Given the description of an element on the screen output the (x, y) to click on. 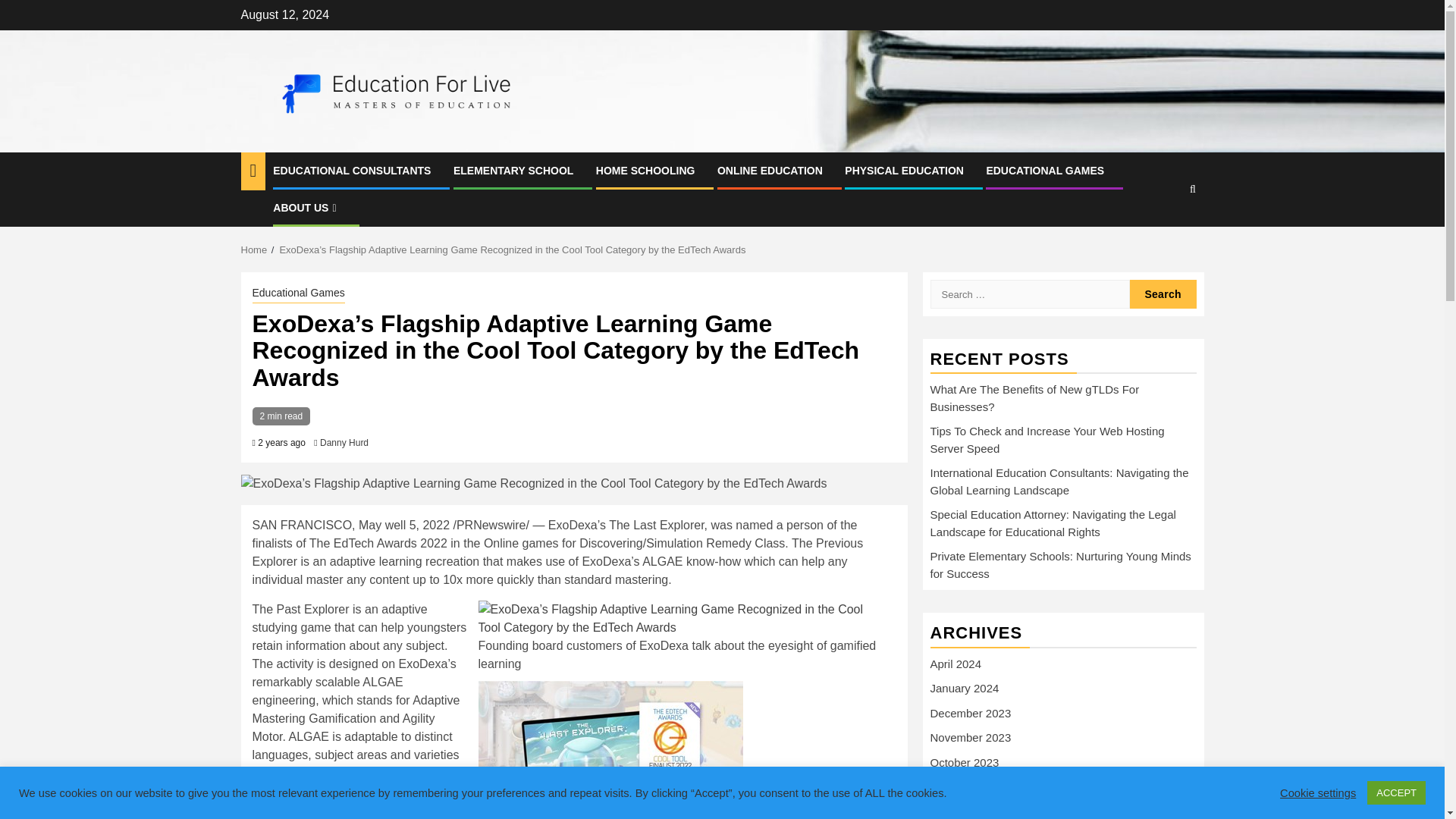
PHYSICAL EDUCATION (903, 170)
Home (254, 249)
EDUCATIONAL GAMES (1044, 170)
EDUCATIONAL CONSULTANTS (351, 170)
ExoDexa wins Cool Tool Award (609, 747)
Search (1163, 235)
Search (1162, 294)
HOME SCHOOLING (645, 170)
Danny Hurd (344, 442)
